Given the description of an element on the screen output the (x, y) to click on. 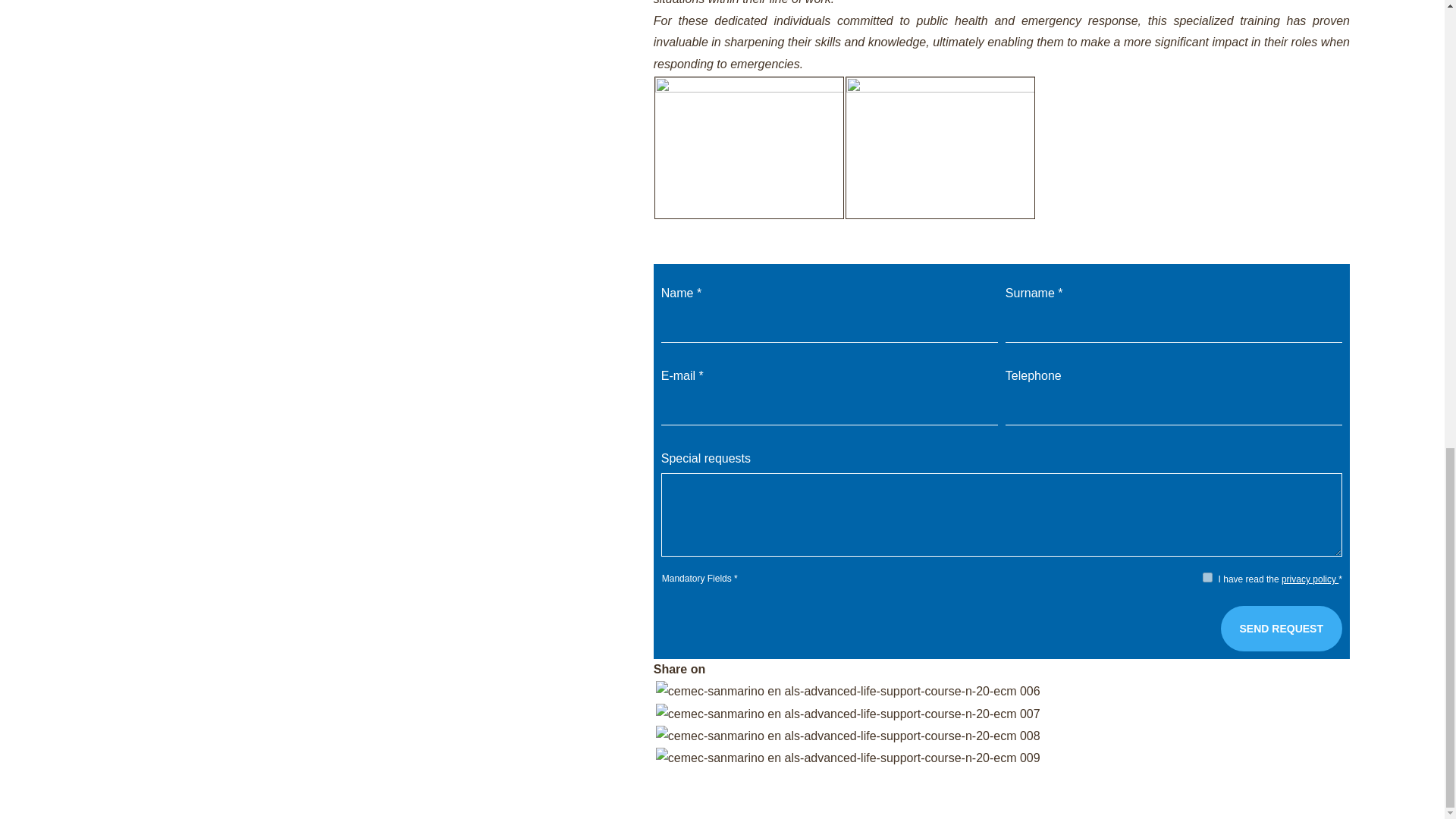
1 (1207, 577)
privacy policy (1309, 579)
Send request (1281, 628)
